Given the description of an element on the screen output the (x, y) to click on. 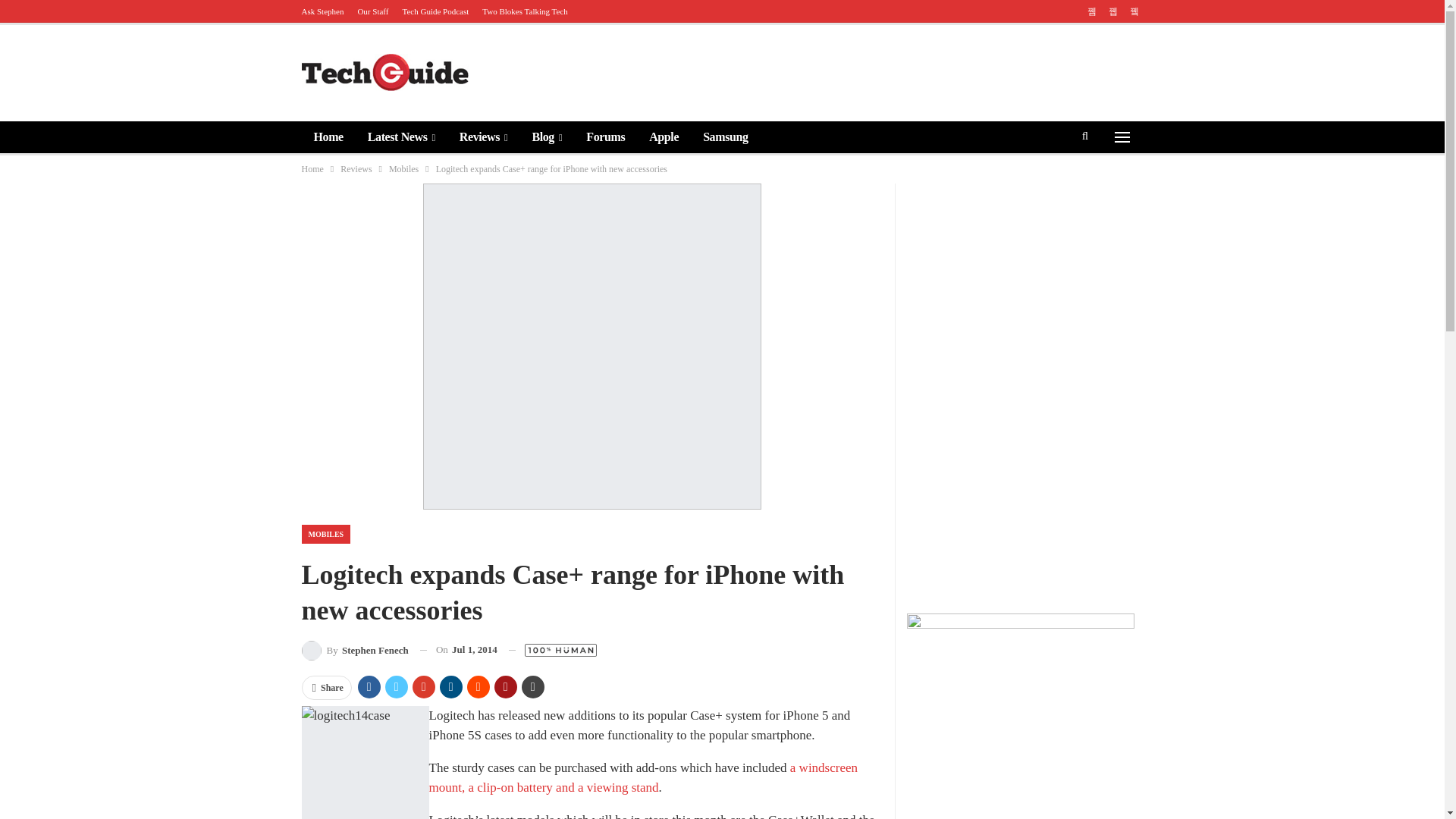
Tech Guide Podcast (434, 10)
Ask Stephen (322, 10)
Our Staff (372, 10)
Home (328, 137)
3rd party ad content (865, 71)
Latest News (400, 137)
Two Blokes Talking Tech (524, 10)
Browse Author Articles (355, 649)
